Given the description of an element on the screen output the (x, y) to click on. 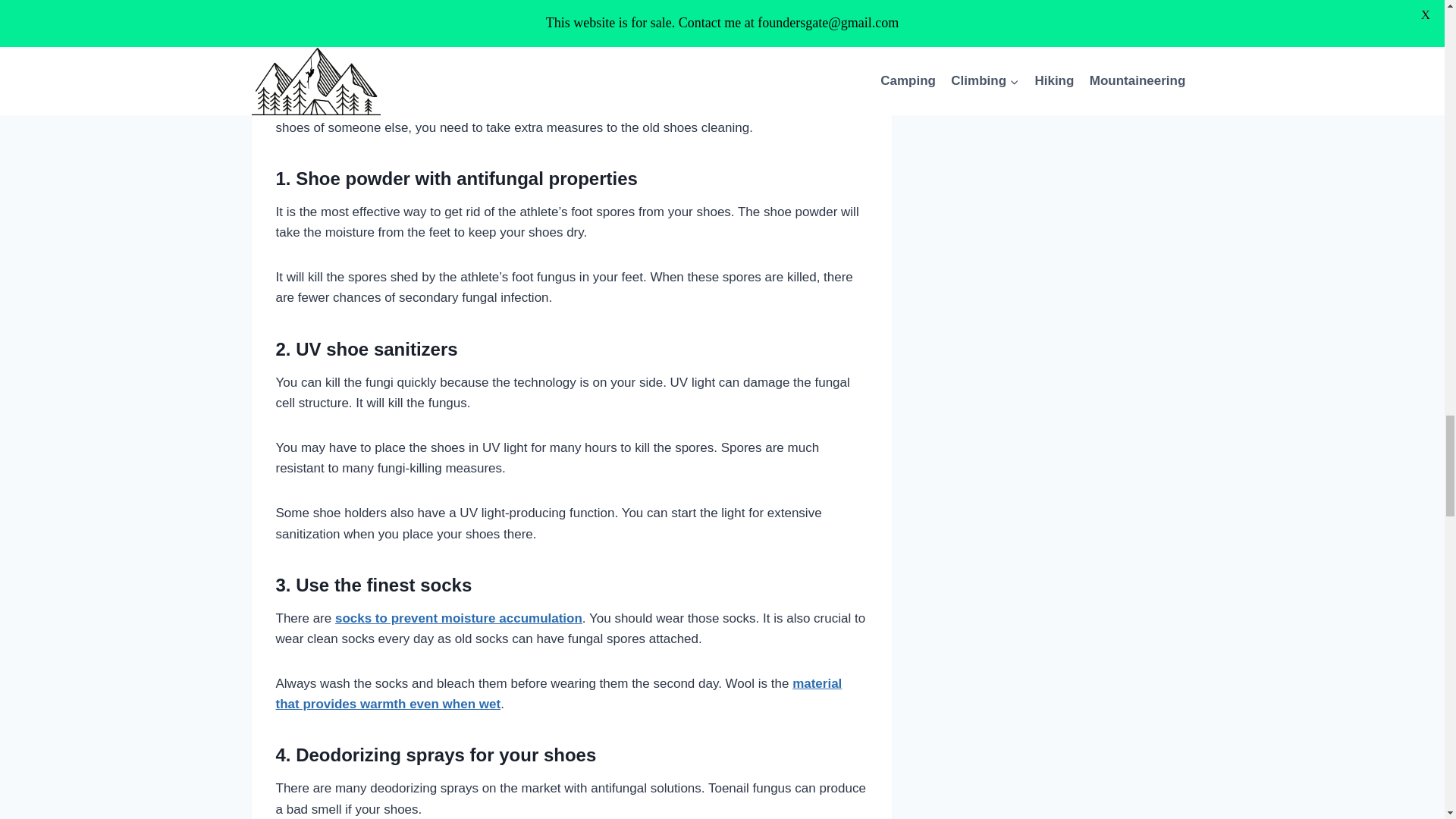
socks to prevent moisture accumulation (458, 617)
material that provides warmth even when wet (559, 693)
